Given the description of an element on the screen output the (x, y) to click on. 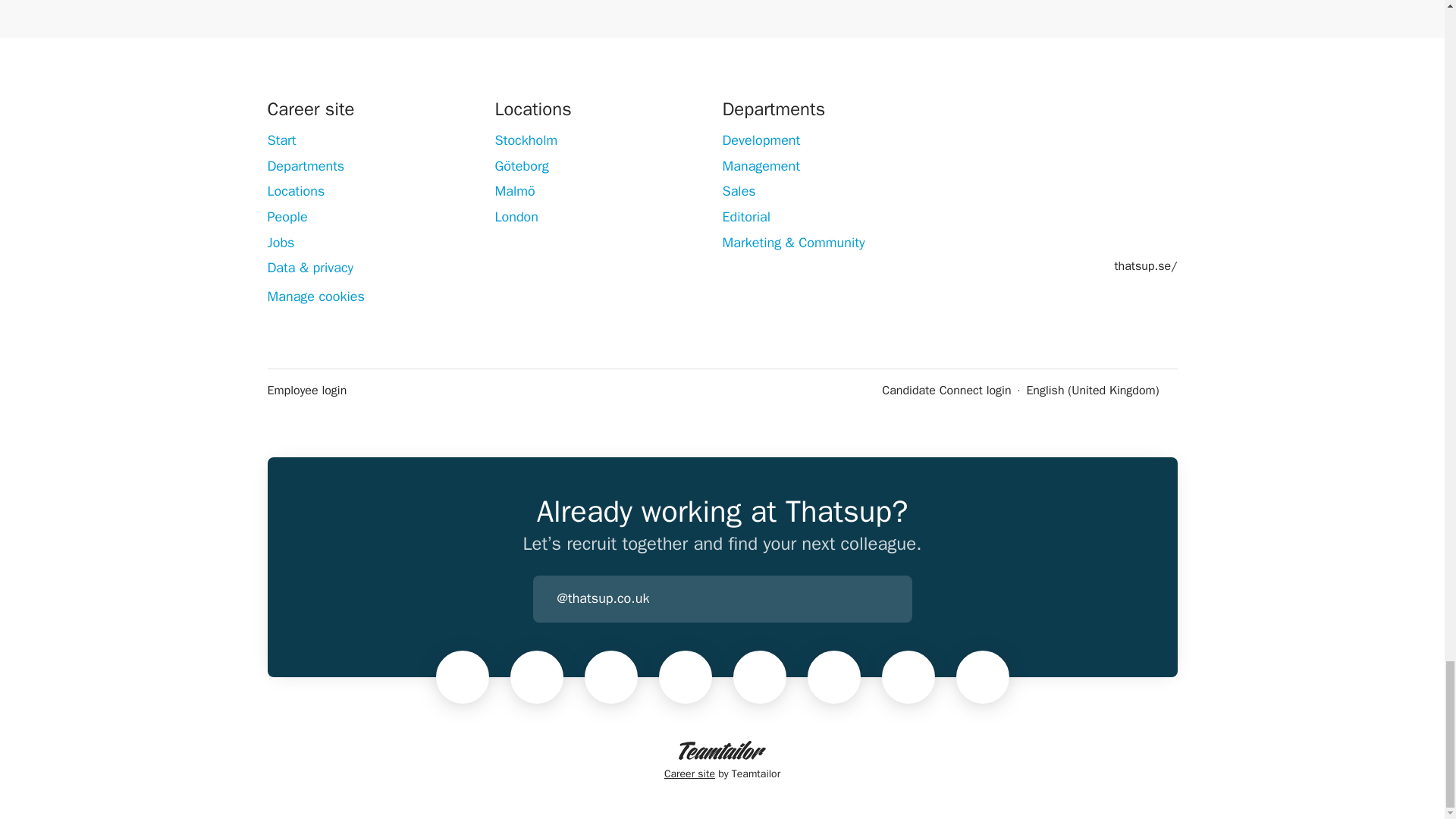
Adam Linders (834, 676)
Jobs (280, 241)
Ammi Bengtsson (982, 676)
People (286, 216)
Ellika Henriksson (759, 676)
Johanna Lagerkranser (610, 676)
Log in (899, 598)
Start (280, 139)
Saga Nilsson (685, 676)
Amanda Jensen (908, 676)
